Given the description of an element on the screen output the (x, y) to click on. 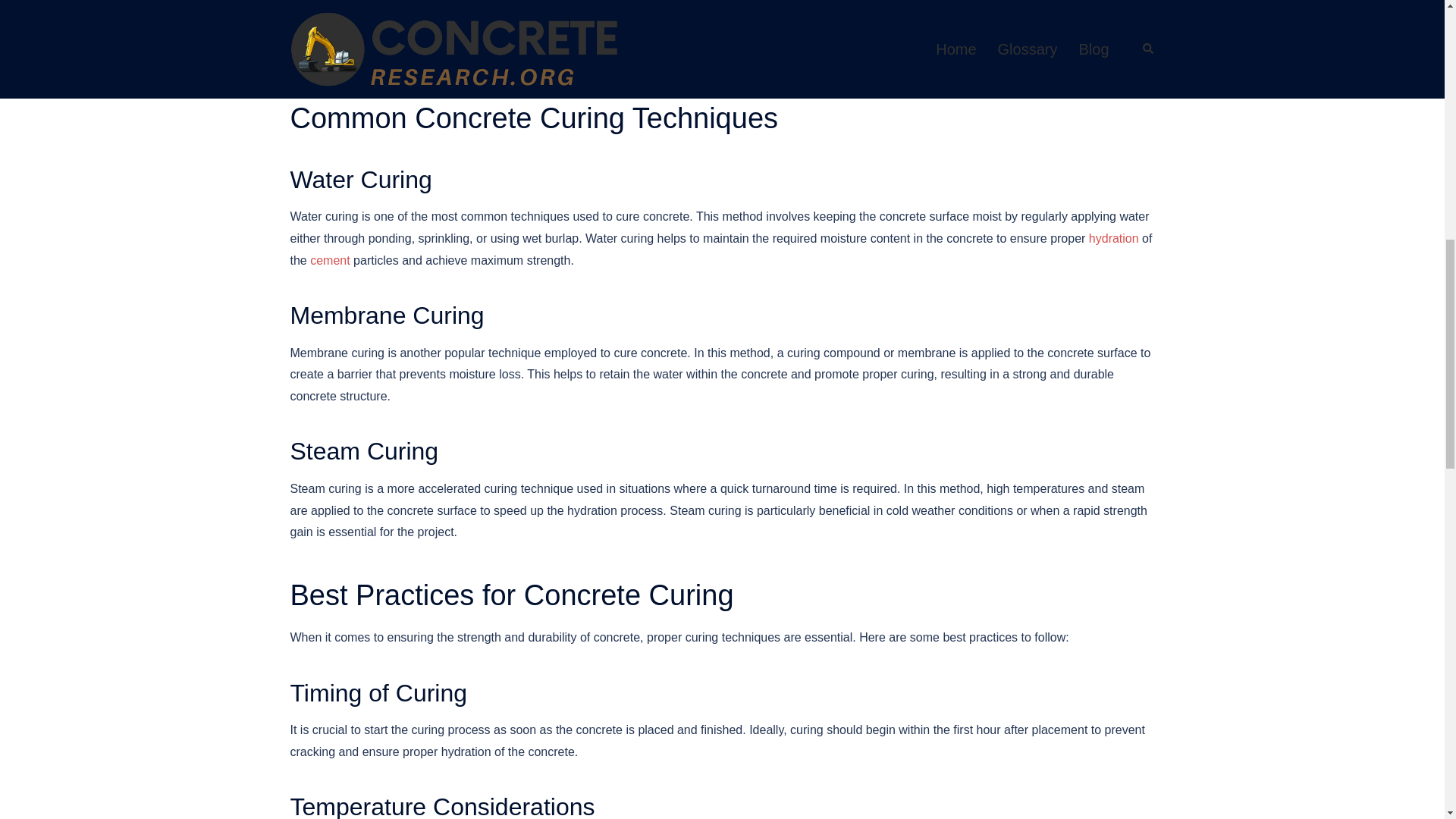
cement (329, 259)
hydration (1113, 237)
hydration (1113, 237)
cement (329, 259)
